Given the description of an element on the screen output the (x, y) to click on. 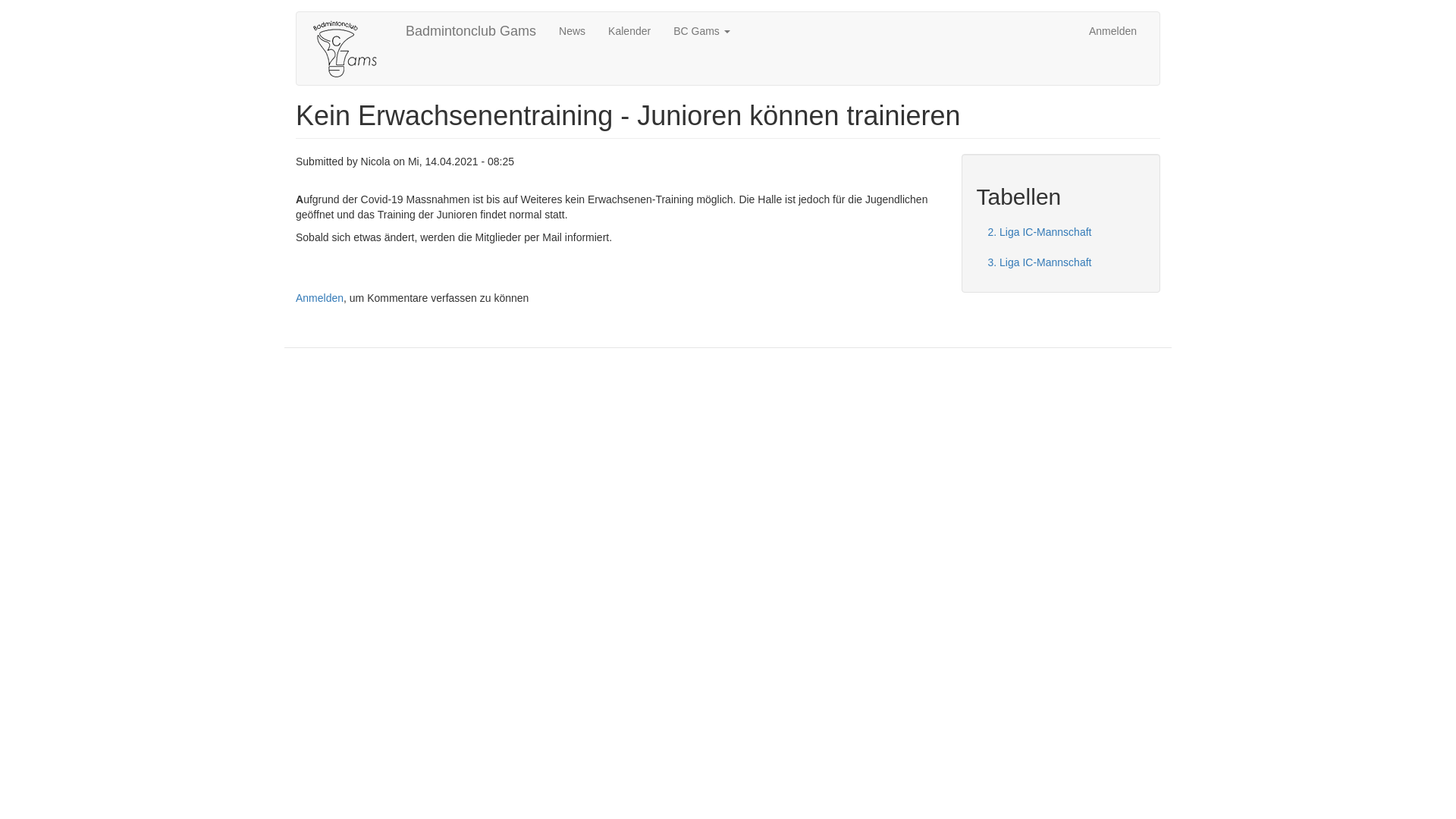
BC Gams Element type: text (701, 31)
Startseite Element type: hover (350, 48)
2. Liga IC-Mannschaft Element type: text (1060, 231)
3. Liga IC-Mannschaft Element type: text (1060, 262)
Anmelden Element type: text (1112, 31)
News Element type: text (571, 31)
Anmelden Element type: text (319, 297)
Kalender Element type: text (629, 31)
Direkt zum Inhalt Element type: text (0, 11)
Badmintonclub Gams Element type: text (470, 31)
